Given the description of an element on the screen output the (x, y) to click on. 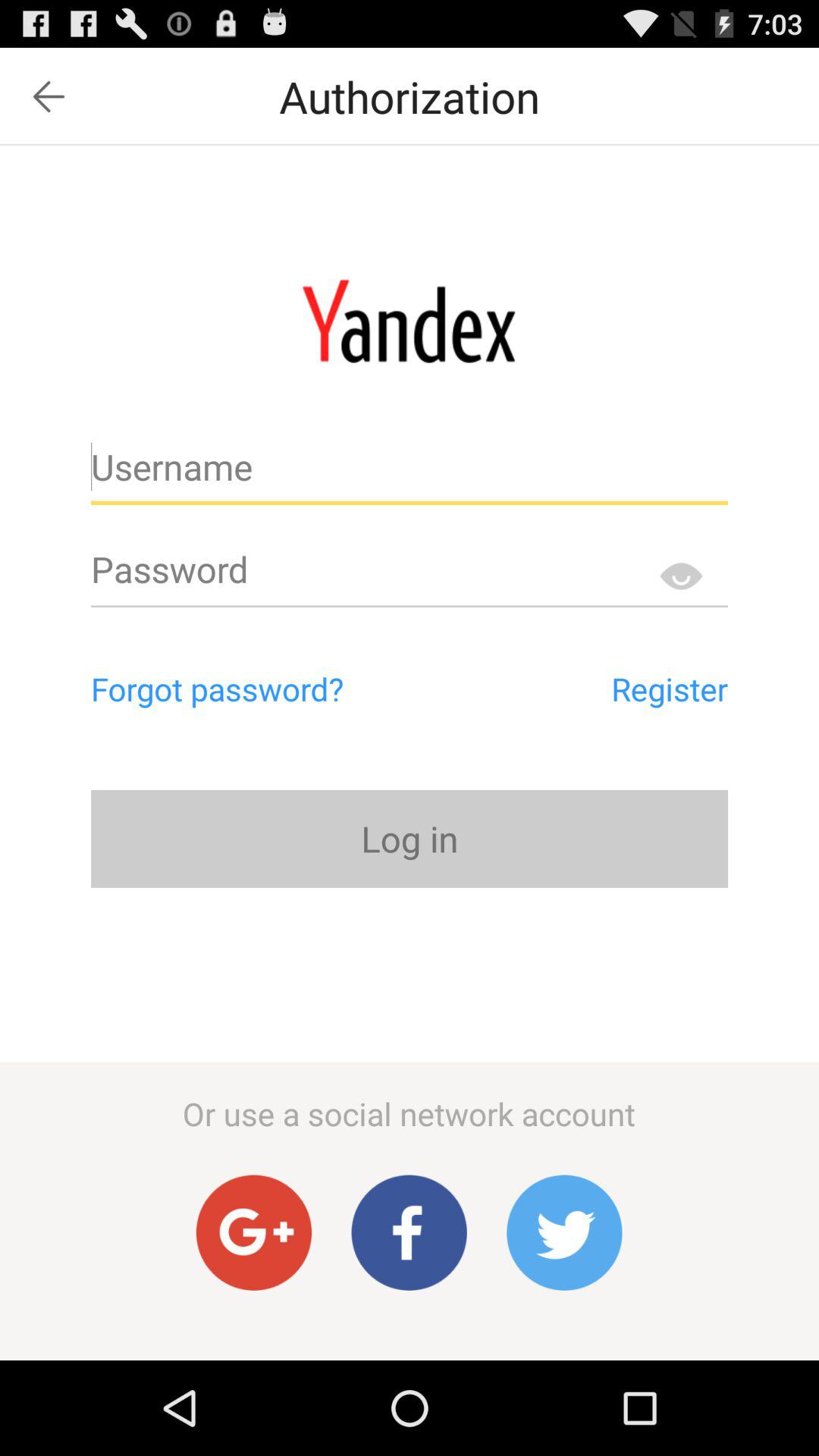
flip until log in (409, 838)
